Given the description of an element on the screen output the (x, y) to click on. 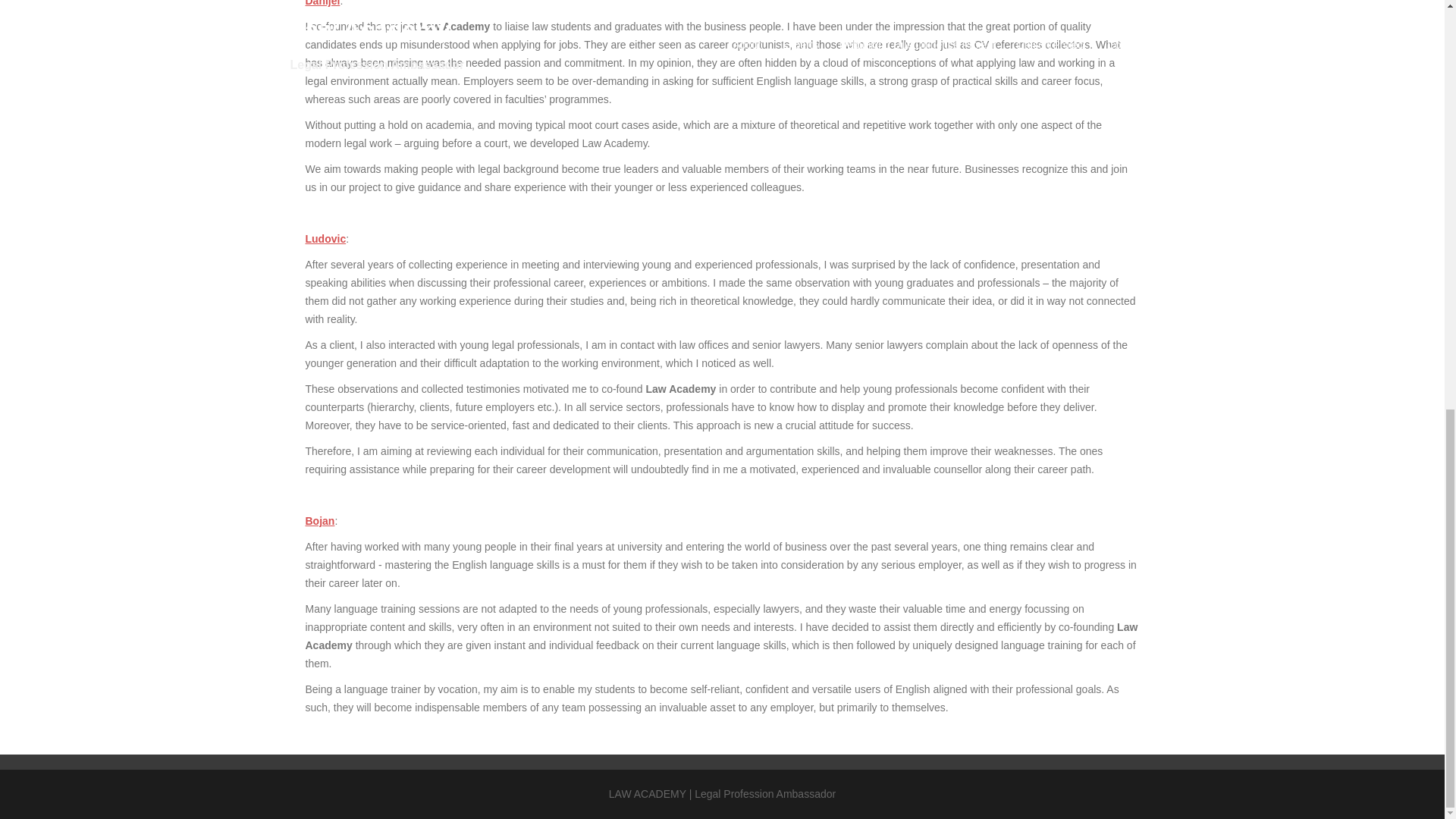
Danijel (321, 3)
LAW ACADEMY (646, 793)
Bojan (319, 521)
Ludovic (325, 238)
